Given the description of an element on the screen output the (x, y) to click on. 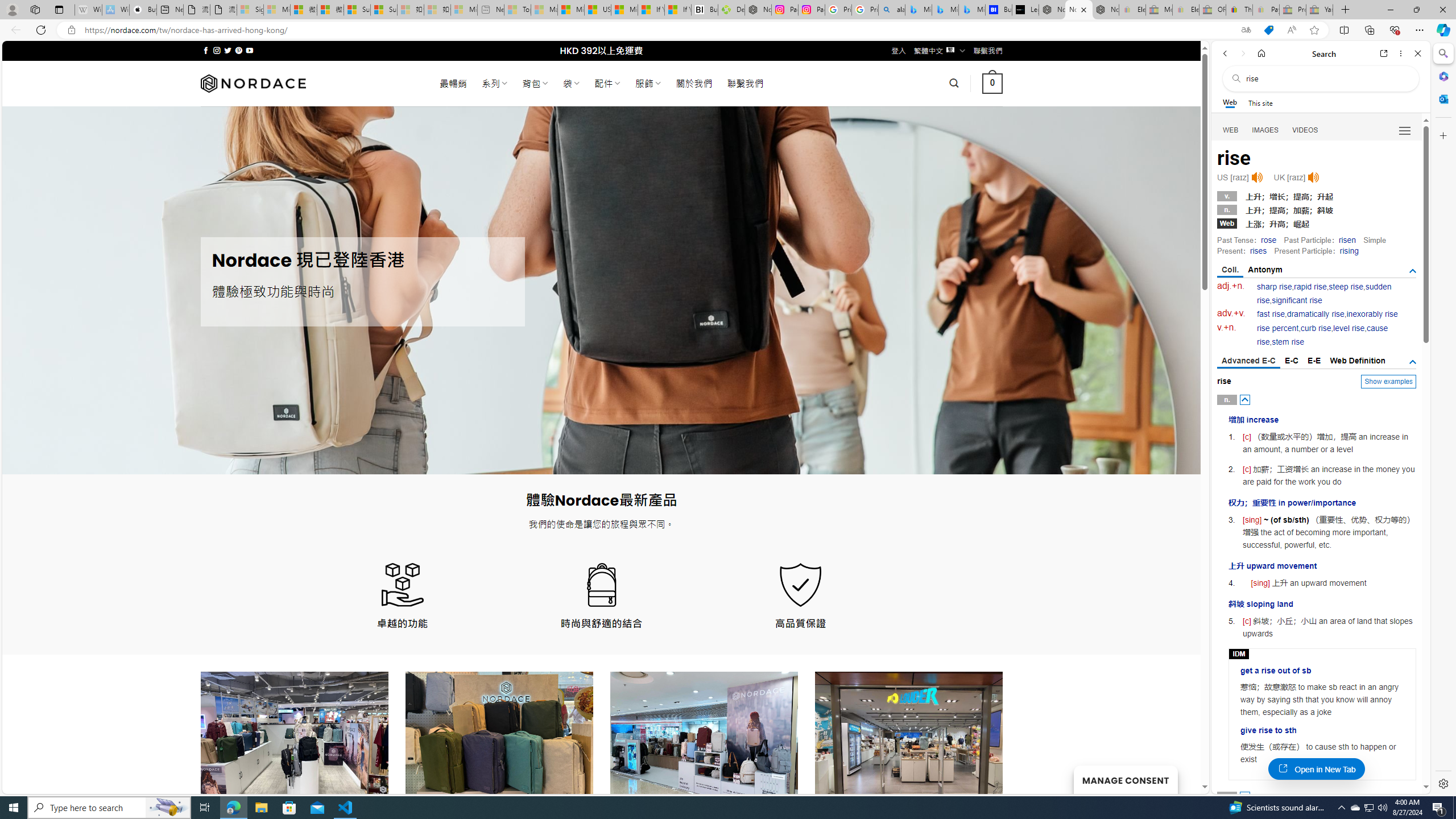
This site scope (1259, 102)
Click to listen (1313, 177)
Marine life - MSN - Sleeping (543, 9)
rising (1348, 250)
Follow on Facebook (205, 50)
rises (1257, 250)
